Given the description of an element on the screen output the (x, y) to click on. 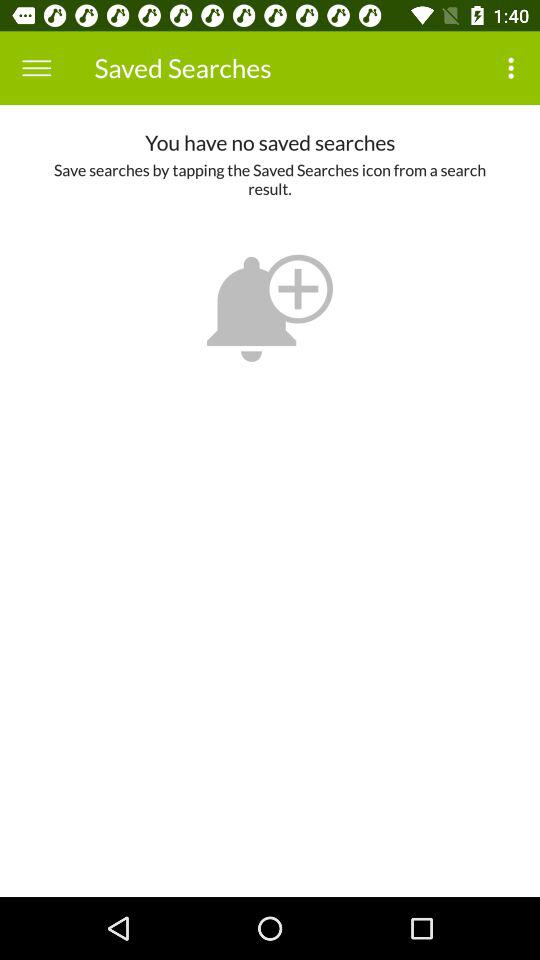
choose the item to the right of the saved searches (513, 67)
